Given the description of an element on the screen output the (x, y) to click on. 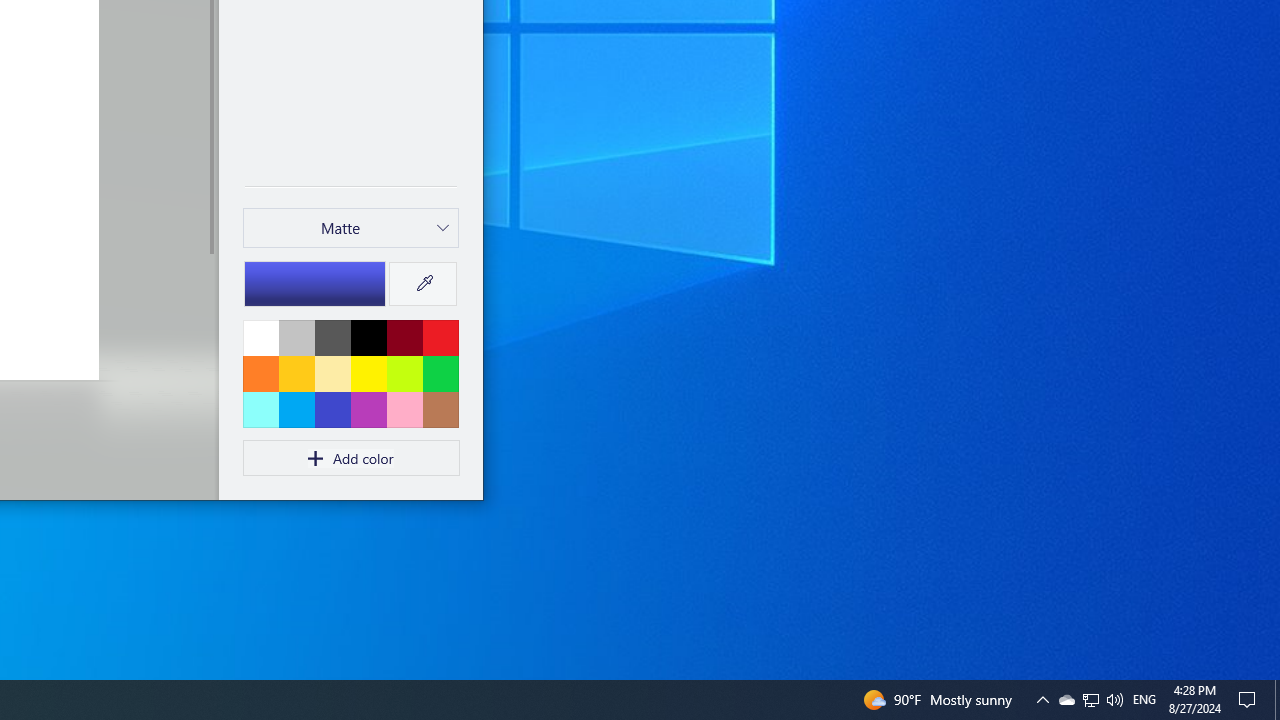
Light grey (296, 337)
Red (440, 337)
Add color (351, 458)
Eyedropper (422, 284)
Brown (440, 409)
Orange (261, 373)
Gold (296, 373)
Turquoise (296, 409)
Lime (404, 373)
